Given the description of an element on the screen output the (x, y) to click on. 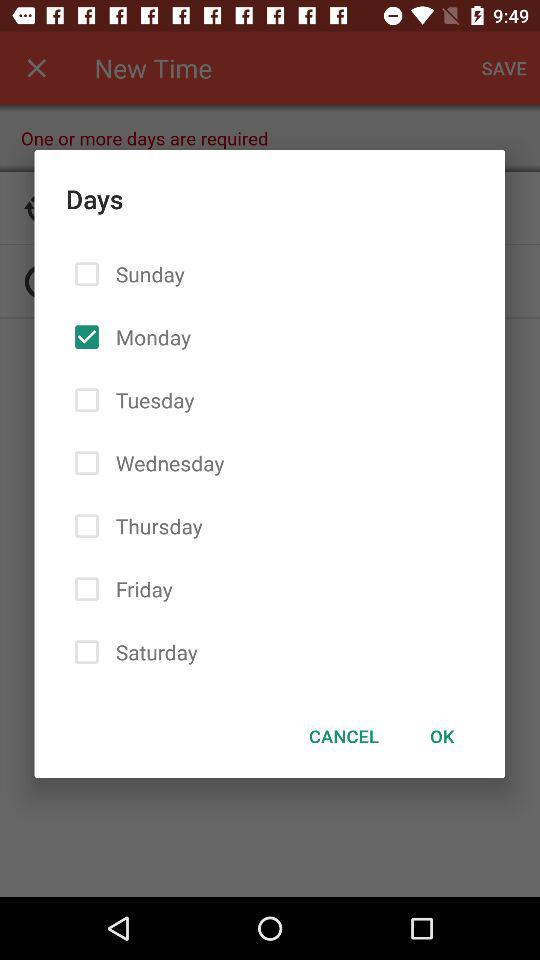
turn off the item below the days (343, 735)
